Given the description of an element on the screen output the (x, y) to click on. 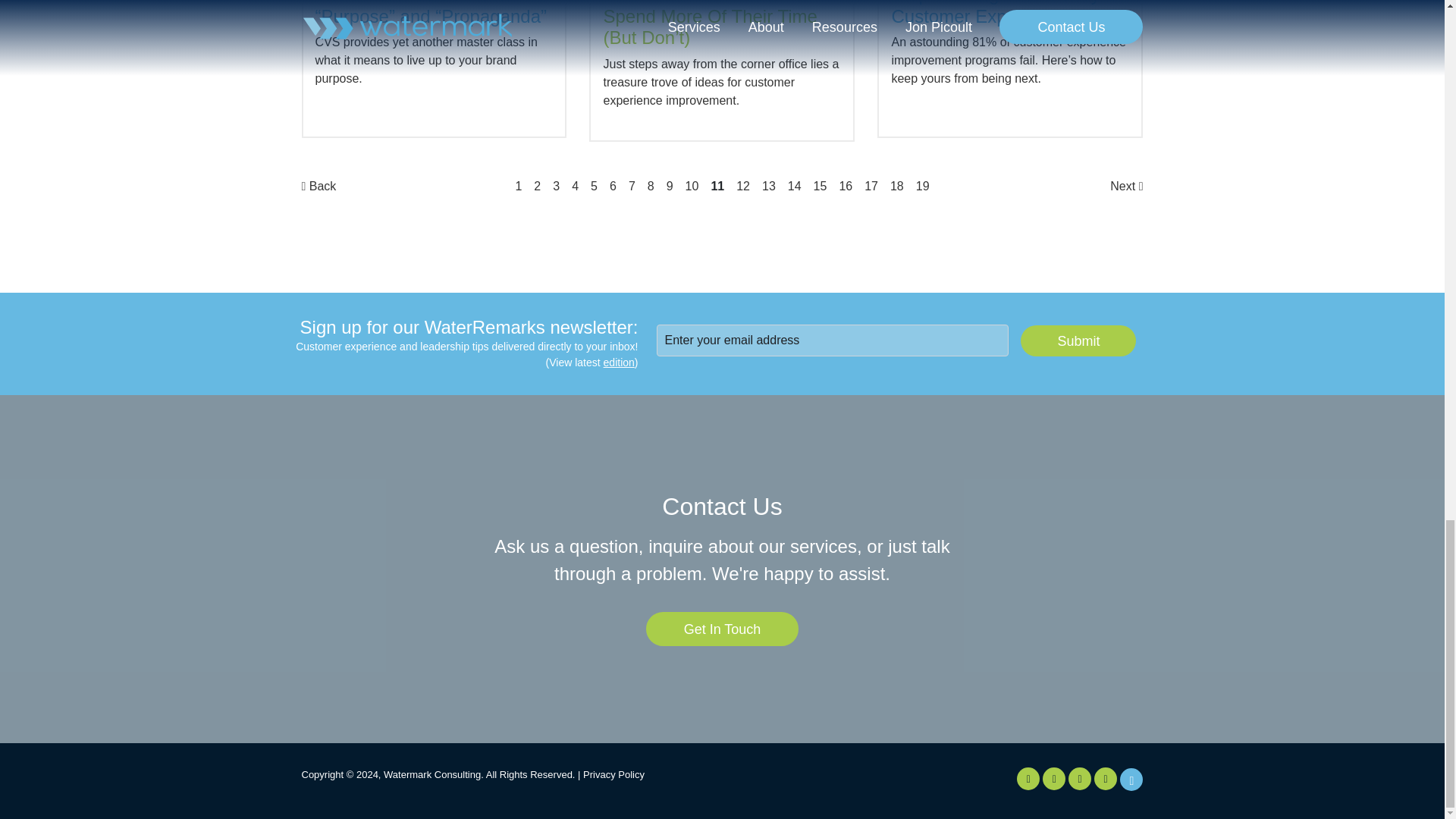
12 (742, 185)
Back (318, 185)
10 (691, 185)
Submit (1077, 340)
